Given the description of an element on the screen output the (x, y) to click on. 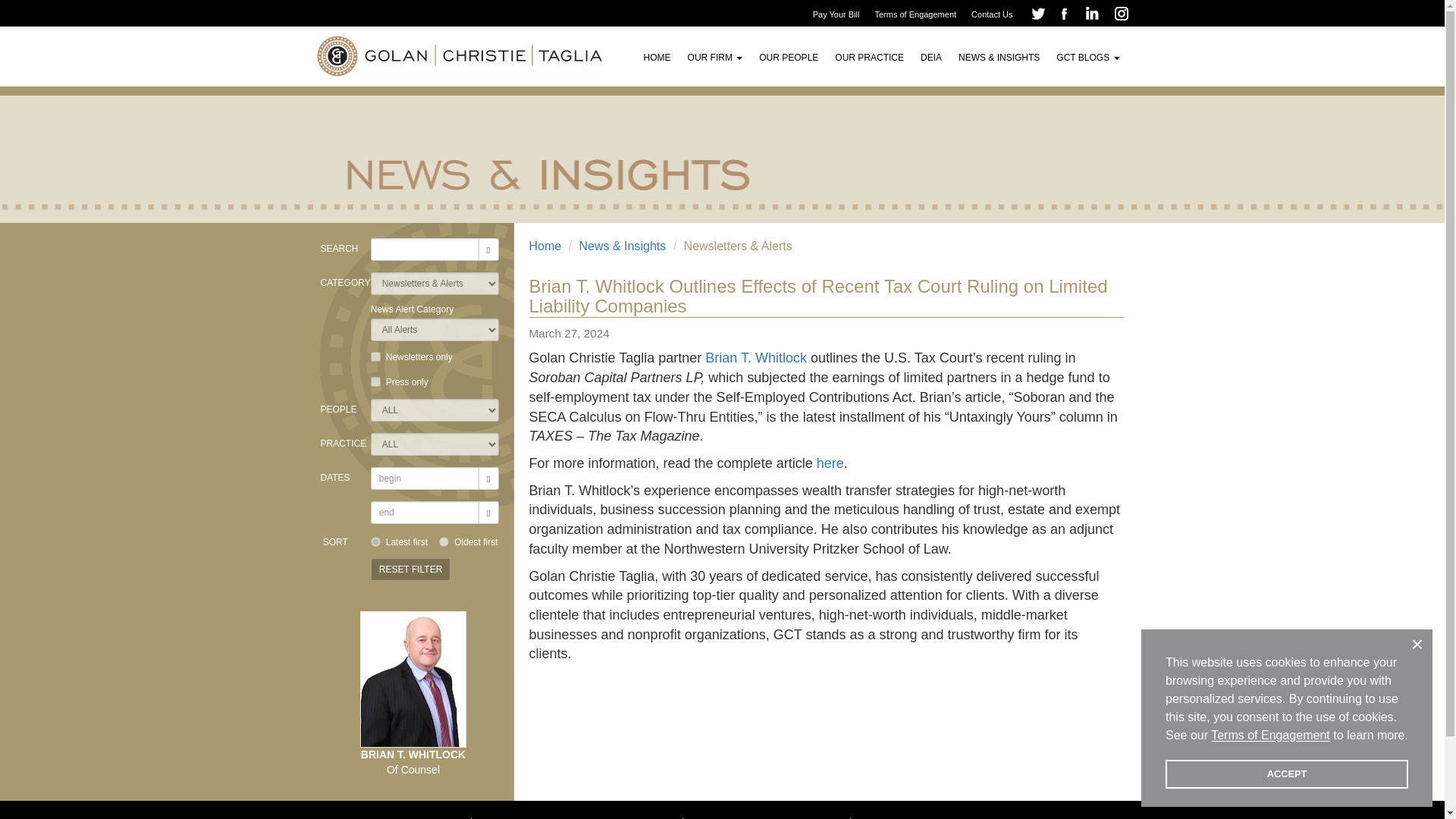
Pay Your Bill (839, 14)
OUR PEOPLE (789, 55)
OUR PRACTICE (869, 55)
RESET FILTER (411, 568)
desc (375, 542)
OUR FIRM (715, 55)
1 (375, 356)
Terms of Engagement (919, 14)
Golan Christie Taglia (458, 45)
1 (375, 381)
Home (545, 245)
Brian T. Whitlock (755, 357)
Contact Us (995, 14)
asc (443, 542)
GCT BLOGS (1087, 55)
